Given the description of an element on the screen output the (x, y) to click on. 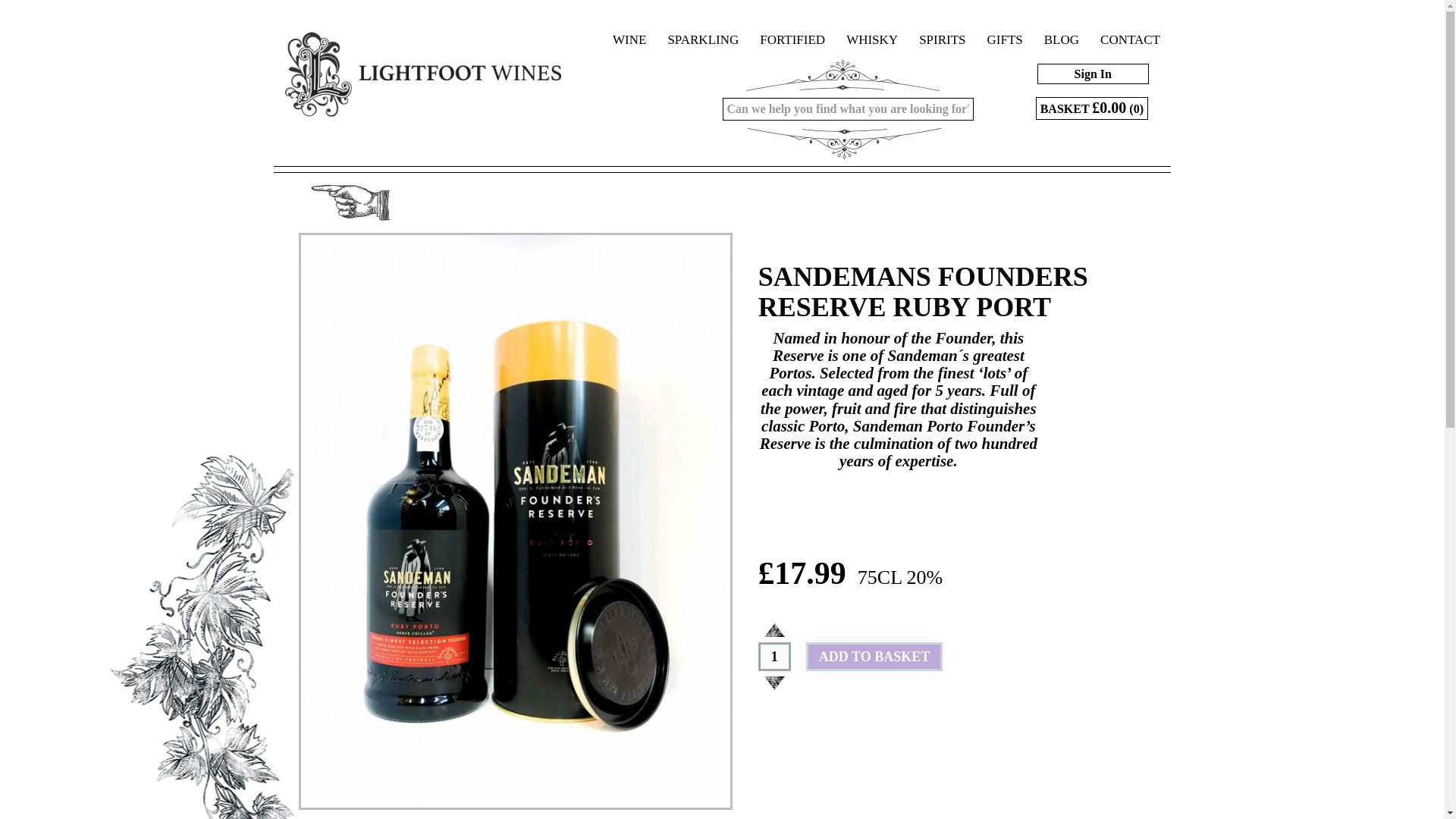
View your shopping cart (1091, 108)
ADD TO BASKET (874, 656)
Sign In (1025, 78)
GIFTS (1004, 27)
1 (774, 656)
Lightfoot Wine (422, 65)
SPARKLING (702, 27)
WINE (629, 27)
CONTACT (1129, 27)
SPIRITS (941, 27)
BLOG (1061, 27)
Qty (774, 656)
FORTIFIED (792, 27)
WHISKY (871, 27)
